Given the description of an element on the screen output the (x, y) to click on. 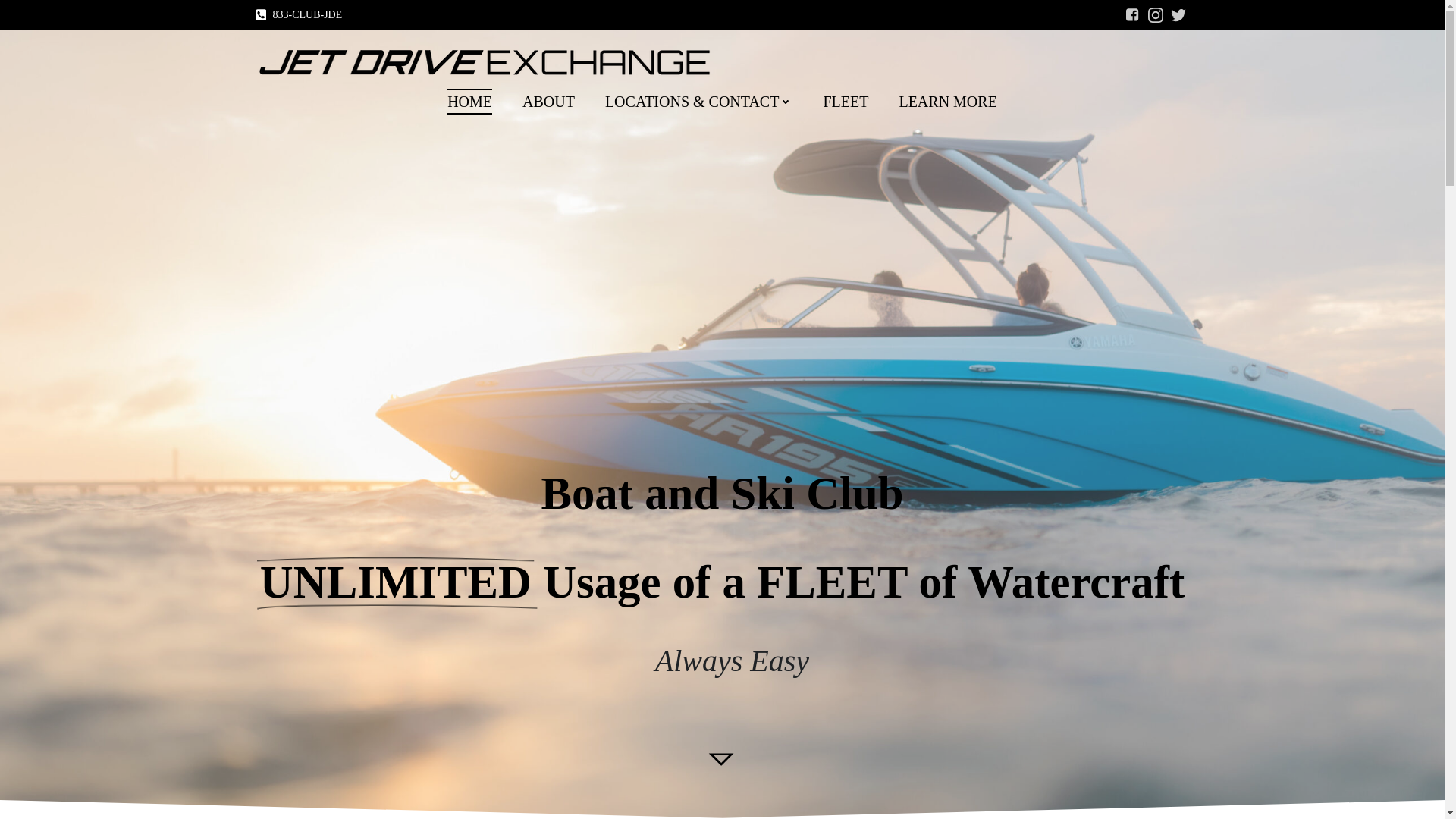
LEARN MORE (946, 101)
HOME (469, 101)
833-CLUB-JDE (298, 15)
FLEET (844, 101)
ABOUT (548, 101)
